Given the description of an element on the screen output the (x, y) to click on. 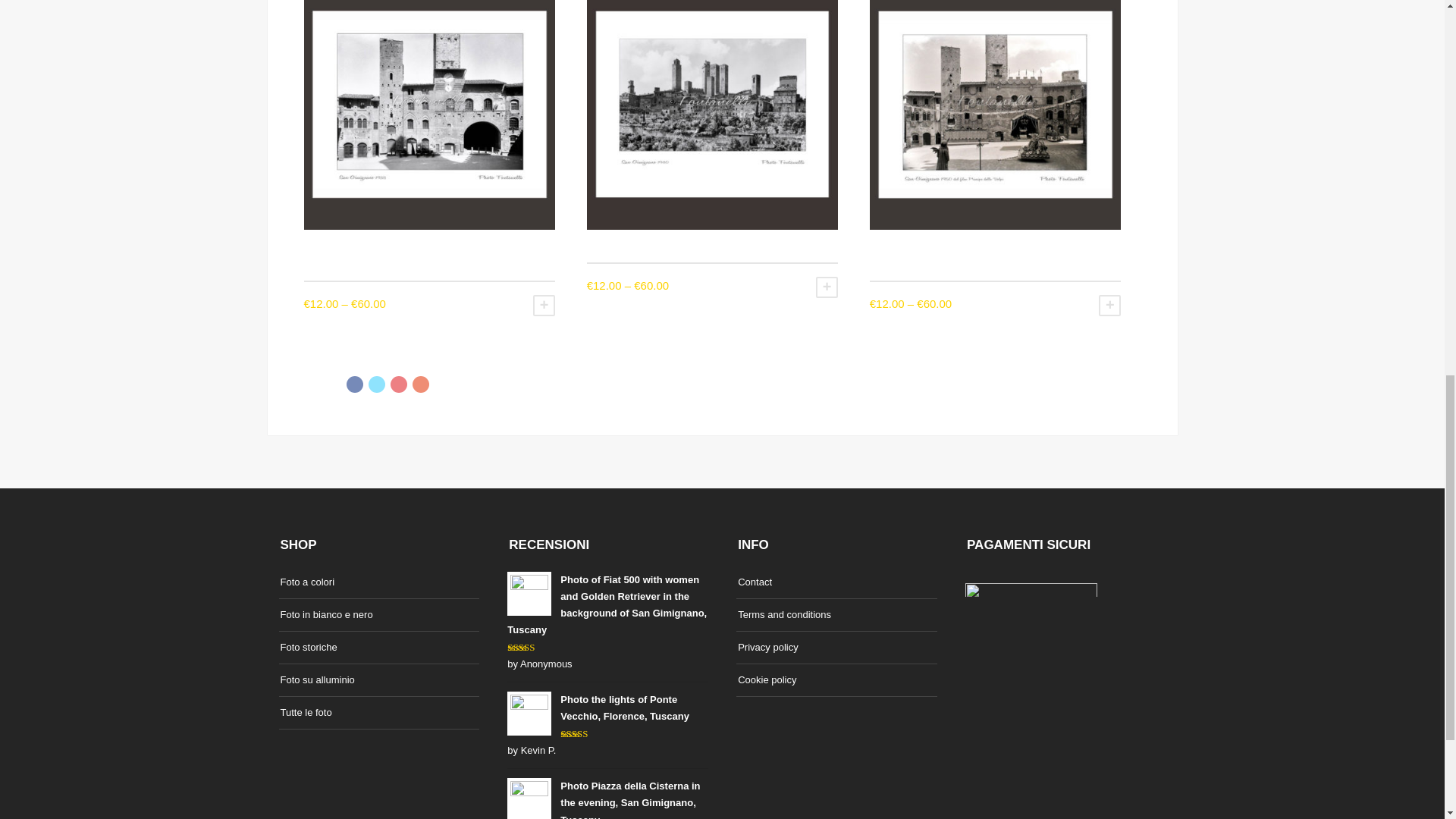
Foto a colori (307, 581)
Facebook (354, 384)
Twitter (376, 384)
SELECT OPTIONS (1110, 305)
Foto in bianco e nero (326, 614)
SELECT OPTIONS (826, 287)
Foto storiche (309, 647)
SELECT OPTIONS (543, 305)
